Given the description of an element on the screen output the (x, y) to click on. 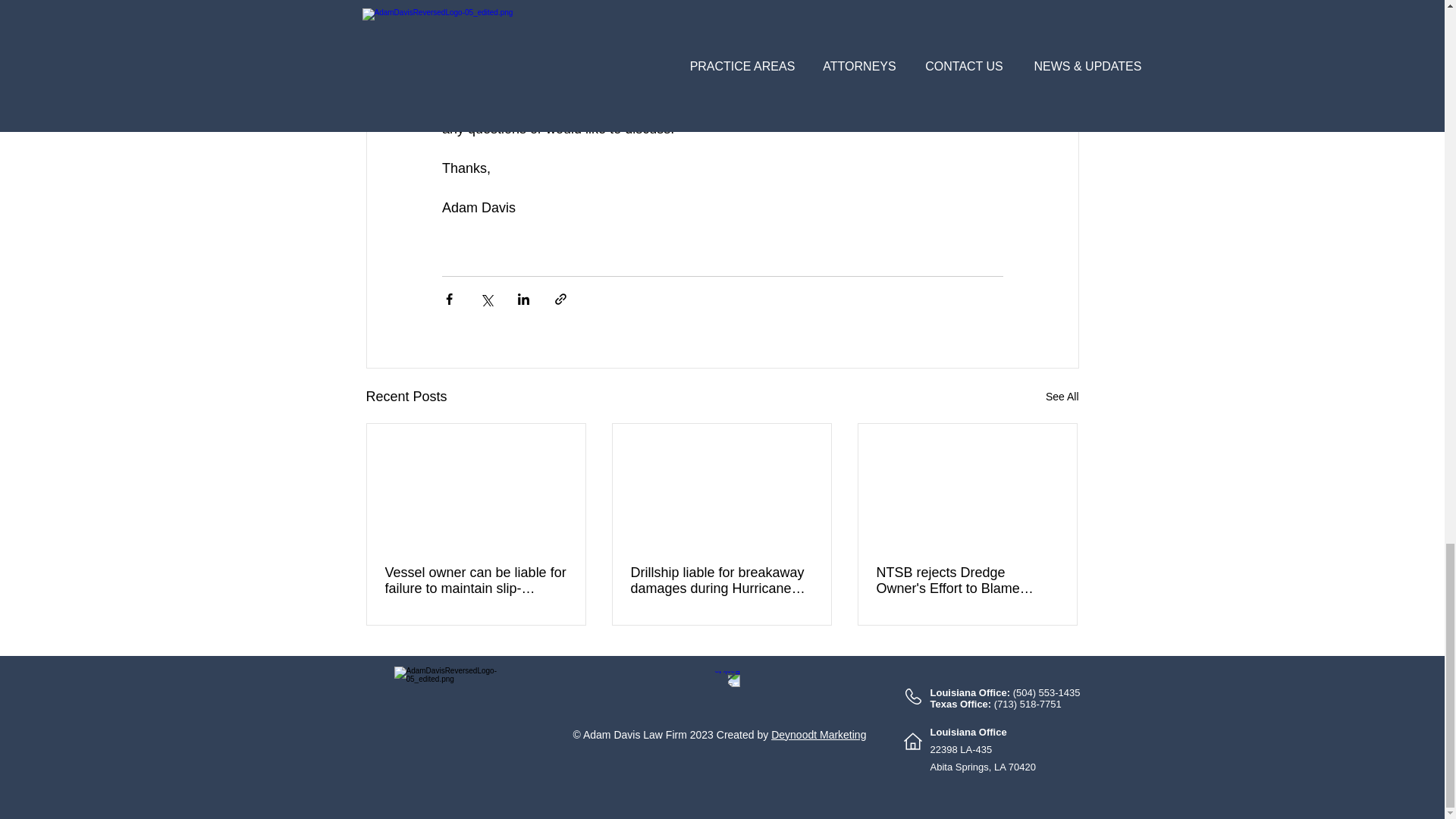
See All (1061, 396)
Deynoodt Marketing (818, 734)
